Given the description of an element on the screen output the (x, y) to click on. 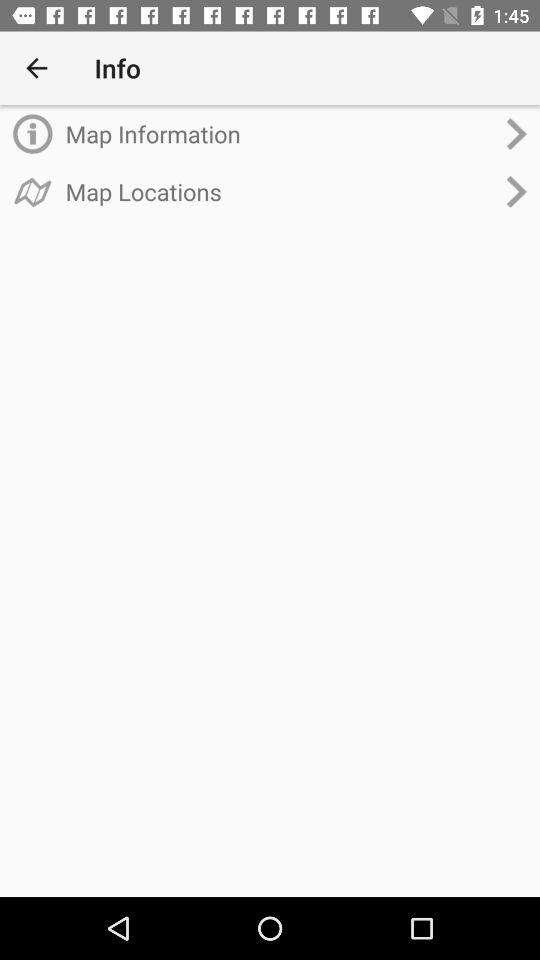
tap item next to the info (36, 68)
